Given the description of an element on the screen output the (x, y) to click on. 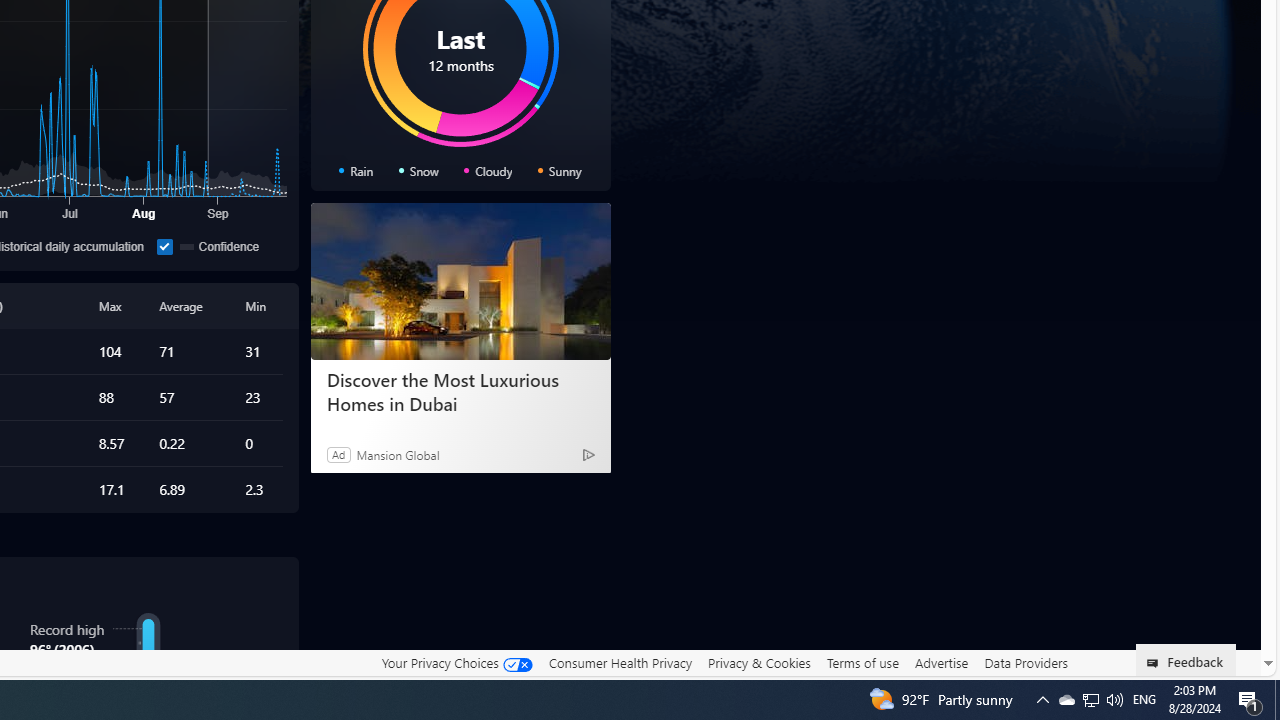
Data Providers (1025, 662)
Discover the Most Luxurious Homes in Dubai (459, 281)
Confidence (217, 246)
Discover the Most Luxurious Homes in Dubai (460, 391)
Your Privacy Choices (456, 662)
